Given the description of an element on the screen output the (x, y) to click on. 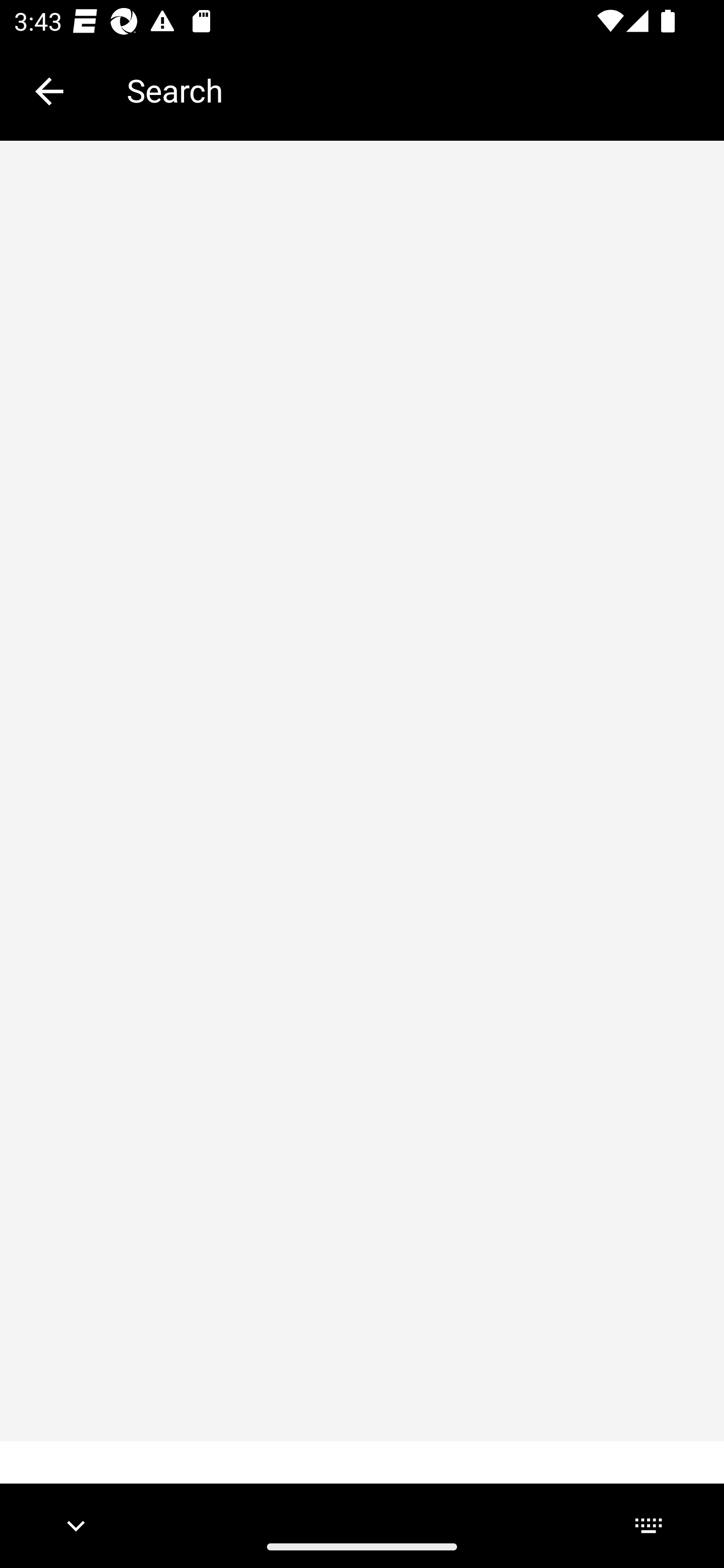
Collapse (49, 91)
Search (411, 90)
